Given the description of an element on the screen output the (x, y) to click on. 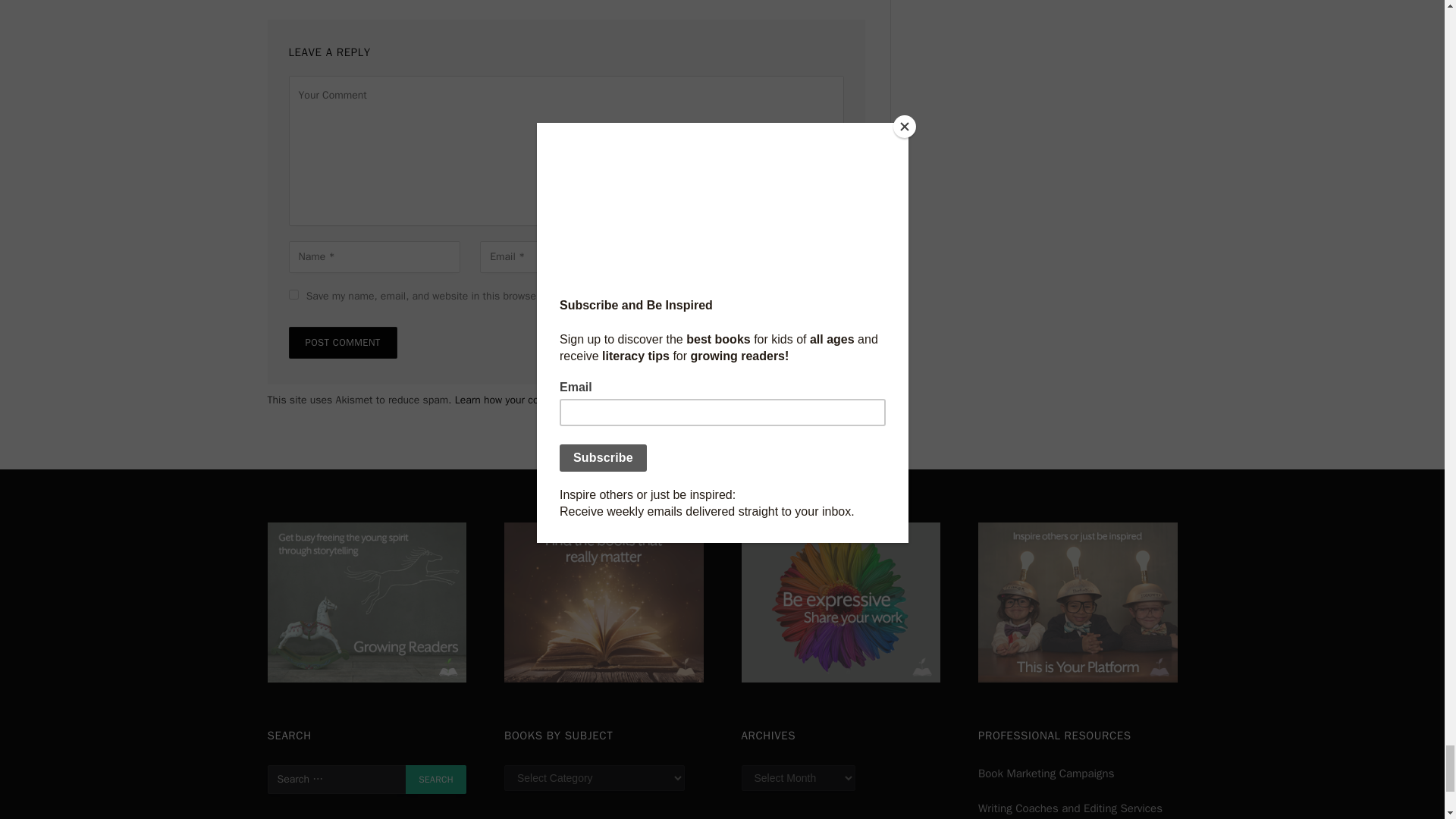
Search (435, 778)
yes (293, 294)
Post Comment (342, 342)
Search (435, 778)
